Given the description of an element on the screen output the (x, y) to click on. 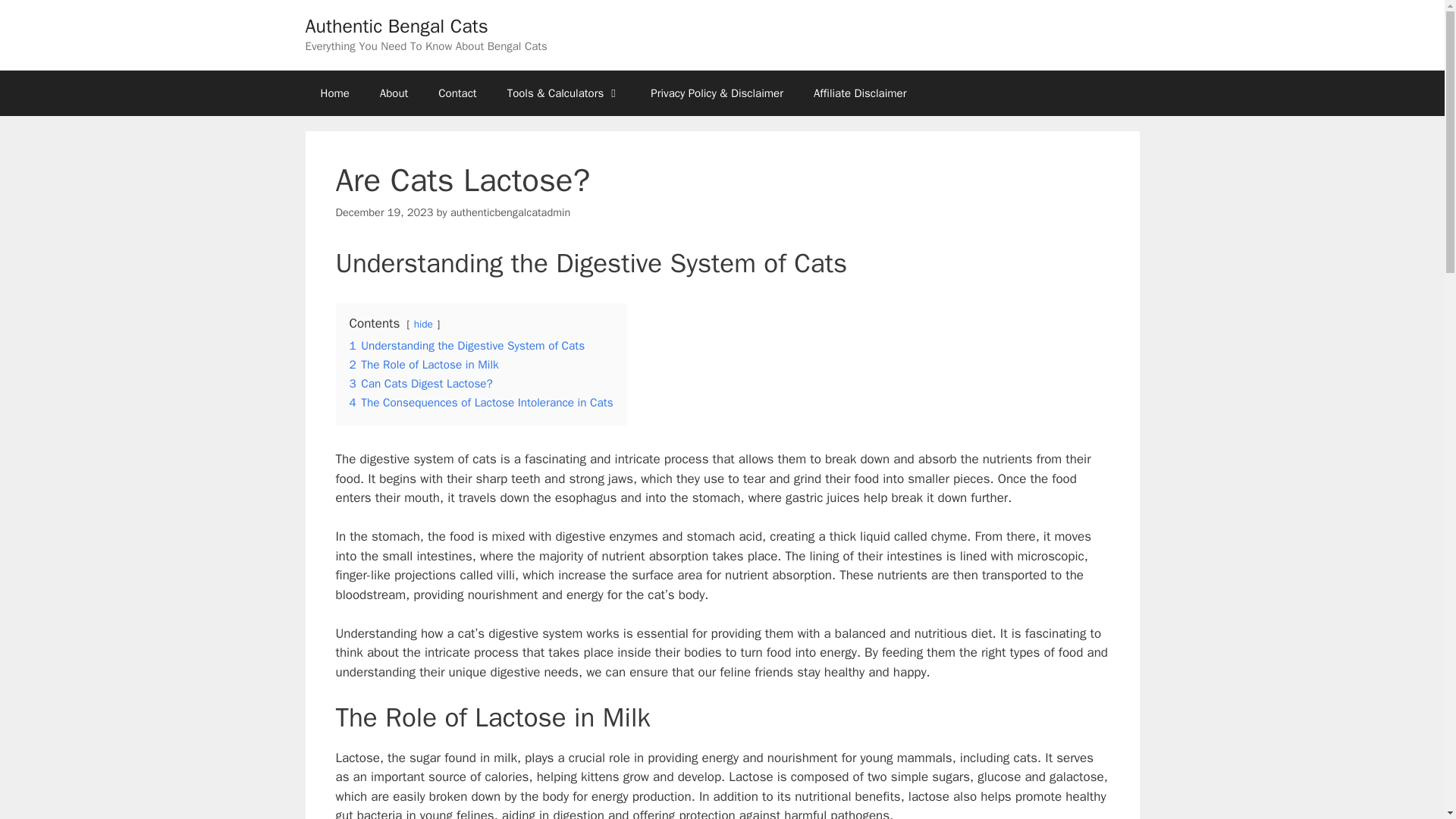
Authentic Bengal Cats (395, 25)
View all posts by authenticbengalcatadmin (509, 212)
hide (422, 323)
2 The Role of Lactose in Milk (423, 364)
3 Can Cats Digest Lactose? (420, 383)
Affiliate Disclaimer (859, 92)
authenticbengalcatadmin (509, 212)
4 The Consequences of Lactose Intolerance in Cats (480, 402)
Home (334, 92)
1 Understanding the Digestive System of Cats (467, 345)
